Given the description of an element on the screen output the (x, y) to click on. 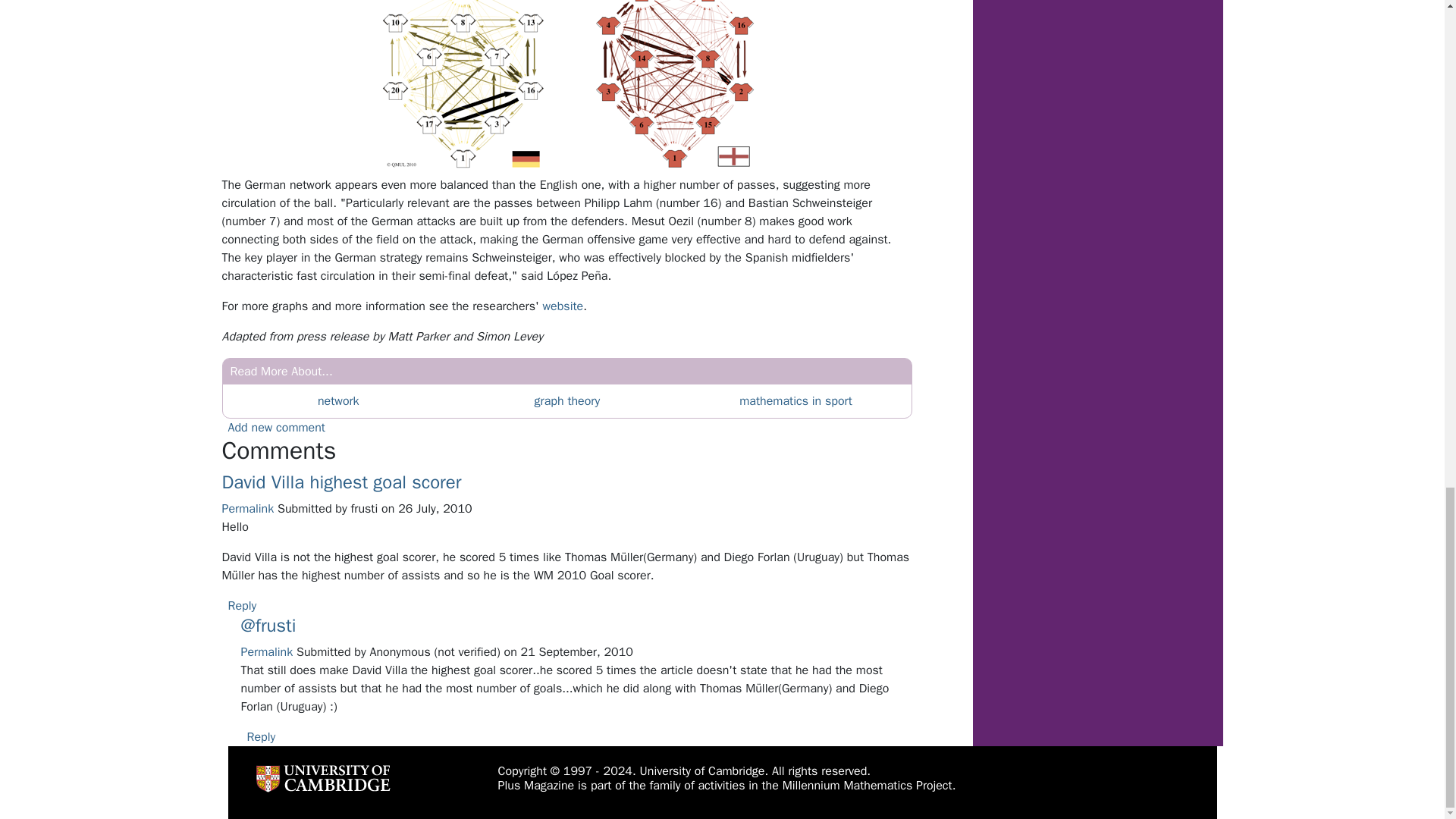
Add new comment (275, 427)
Permalink (247, 508)
network (338, 400)
graph theory (566, 400)
David Villa highest goal scorer (341, 481)
Permalink (267, 652)
mathematics in sport (795, 400)
Share your thoughts and opinions. (275, 427)
Reply (241, 605)
Reply (261, 736)
website (563, 305)
